Given the description of an element on the screen output the (x, y) to click on. 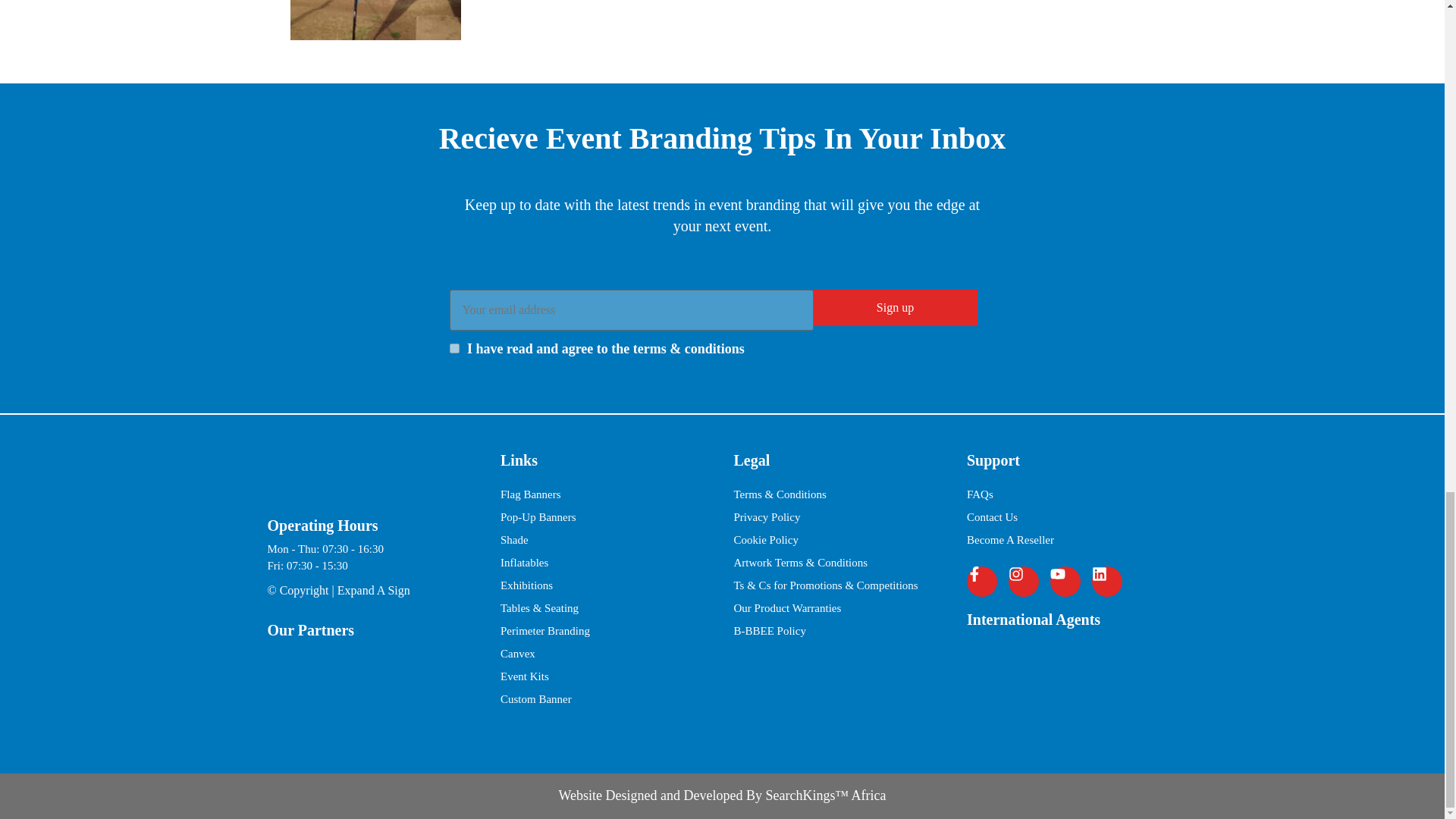
Sign up (894, 307)
1 (453, 347)
